Given the description of an element on the screen output the (x, y) to click on. 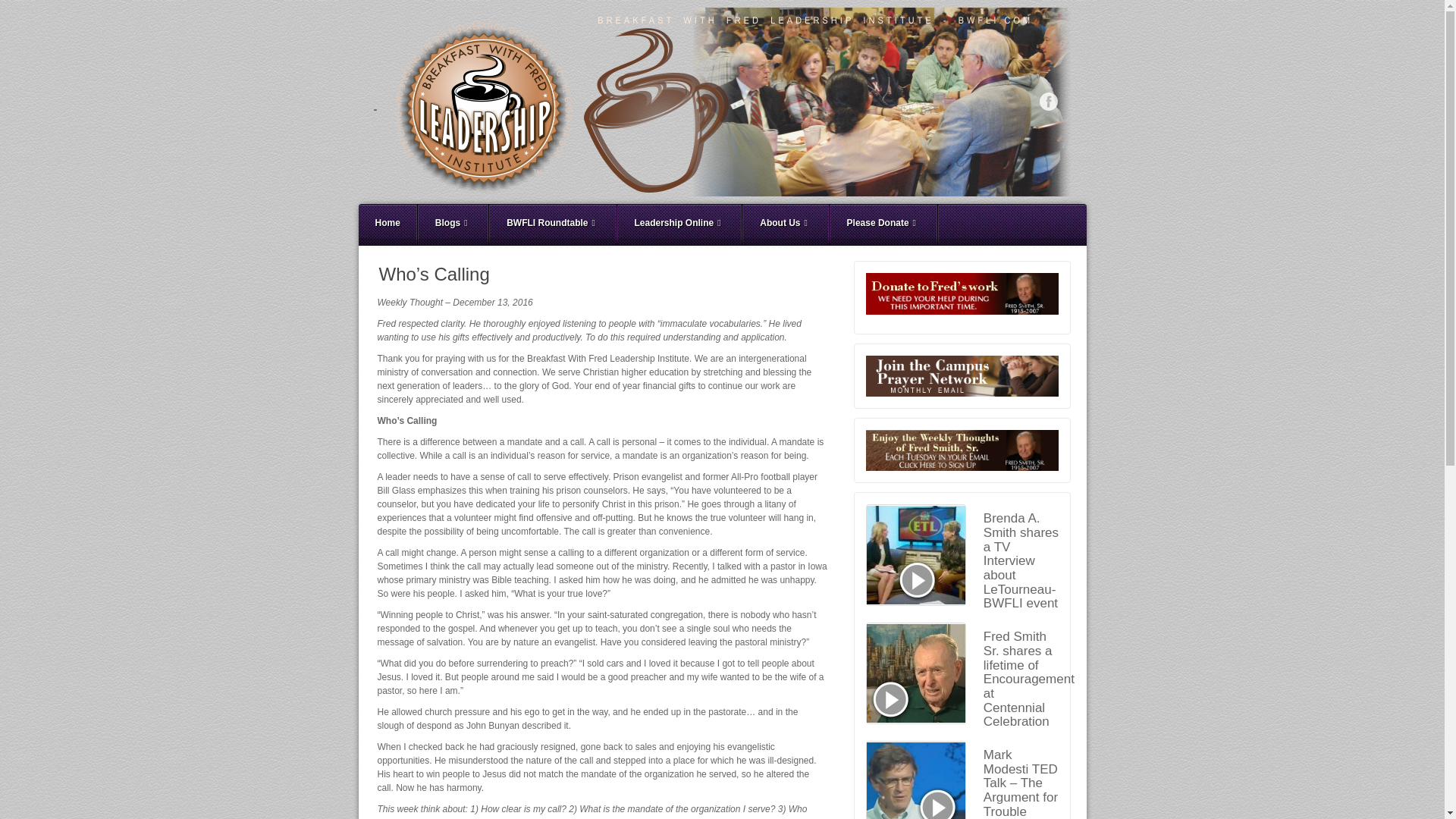
Blogs (453, 224)
BWFLI Roundtable (552, 224)
Facebook (1048, 101)
Please Donate (883, 224)
Home (387, 224)
About Us (785, 224)
Facebook (1048, 101)
Leadership Online (679, 224)
BWFLI (721, 101)
